Given the description of an element on the screen output the (x, y) to click on. 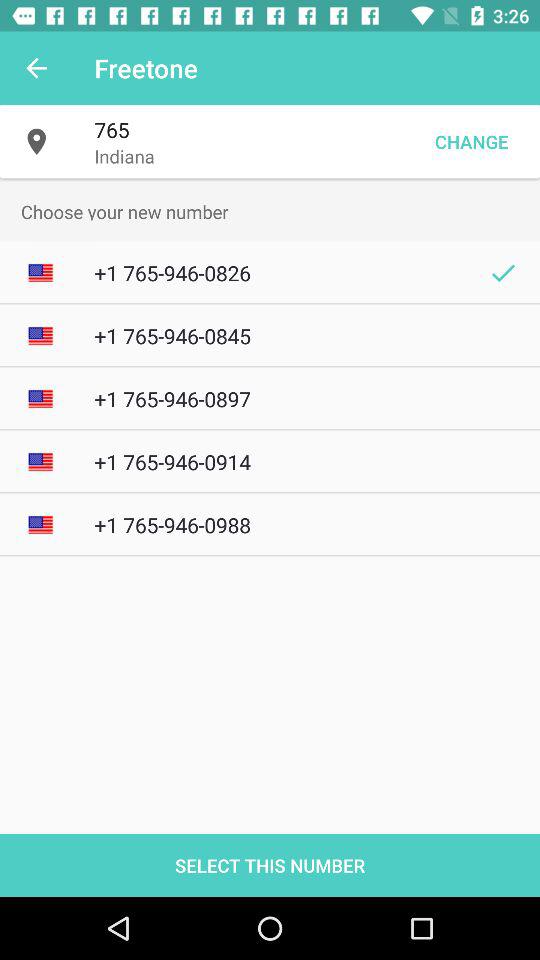
click item next to the freetone app (36, 68)
